Given the description of an element on the screen output the (x, y) to click on. 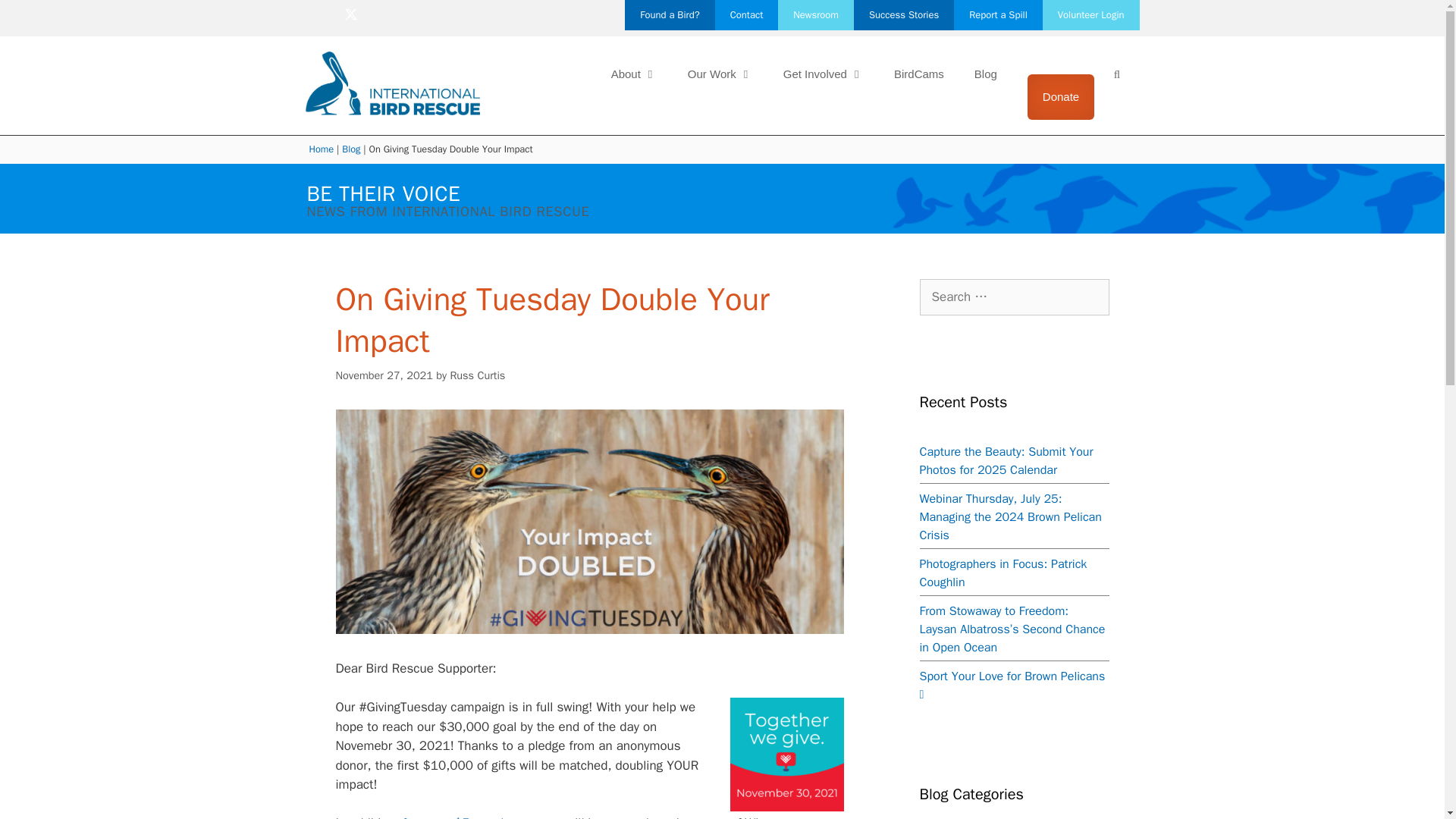
Volunteer Login (1091, 15)
Newsroom (815, 15)
Contact (746, 15)
Get Involved (823, 74)
BirdCams (919, 74)
Search for: (1013, 297)
Our Work (720, 74)
About (633, 74)
View all posts by Russ Curtis (477, 375)
Report a Spill (997, 15)
Found a Bird? (669, 15)
Success Stories (903, 15)
